Given the description of an element on the screen output the (x, y) to click on. 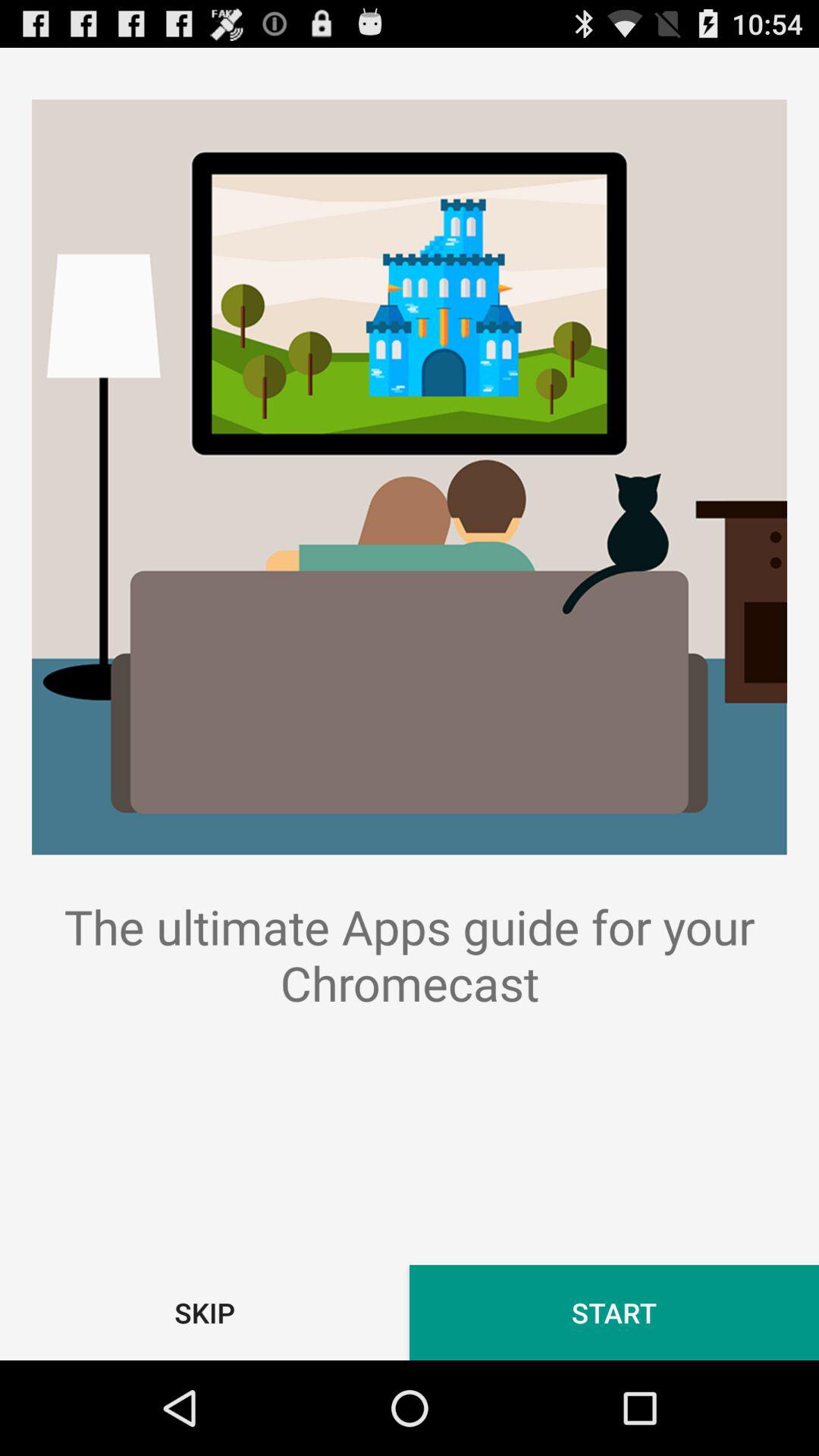
open the item to the right of skip icon (614, 1312)
